Given the description of an element on the screen output the (x, y) to click on. 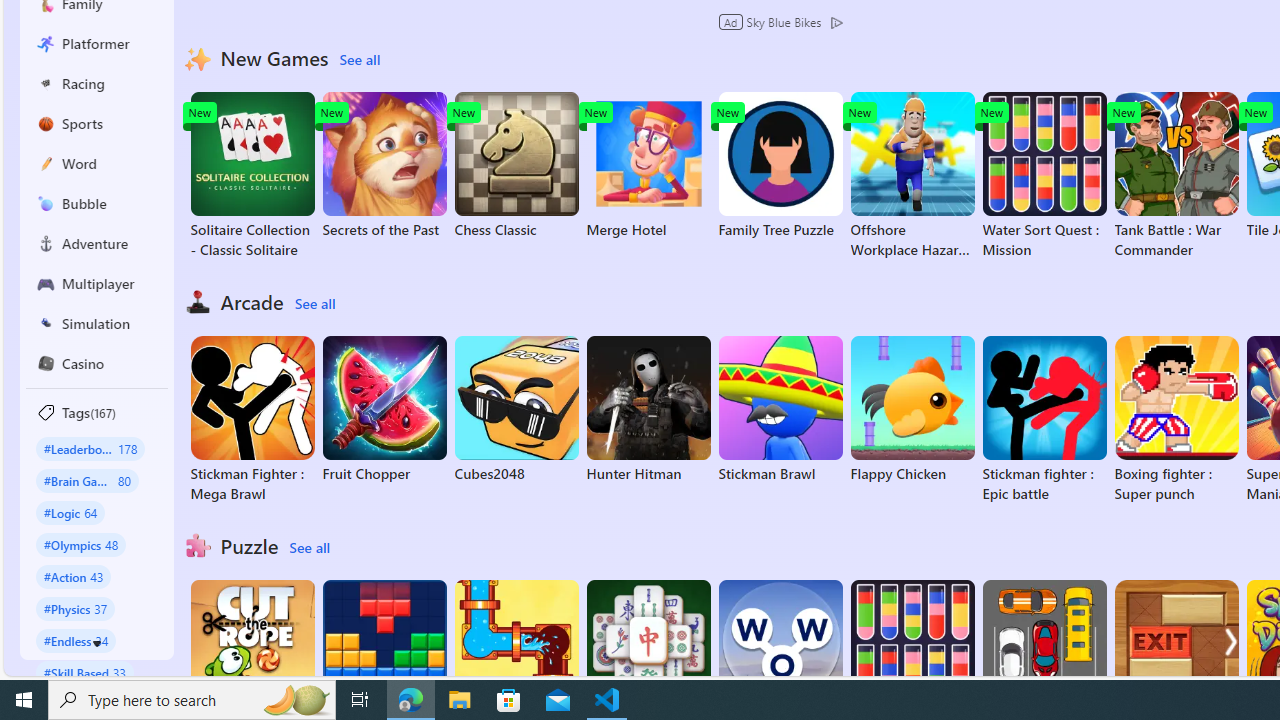
Water Sort Quest : Mission (1044, 175)
#Olympics 48 (80, 544)
Tank Battle : War Commander (1176, 175)
Merge Hotel (648, 165)
Boxing fighter : Super punch (1176, 419)
Stickman fighter : Epic battle (1044, 419)
Chess Classic (516, 165)
Cubes2048 (516, 409)
See all (309, 547)
Flappy Chicken (912, 409)
Offshore Workplace Hazard Game (912, 175)
#Endless 34 (75, 640)
#Leaderboard 178 (90, 448)
